Given the description of an element on the screen output the (x, y) to click on. 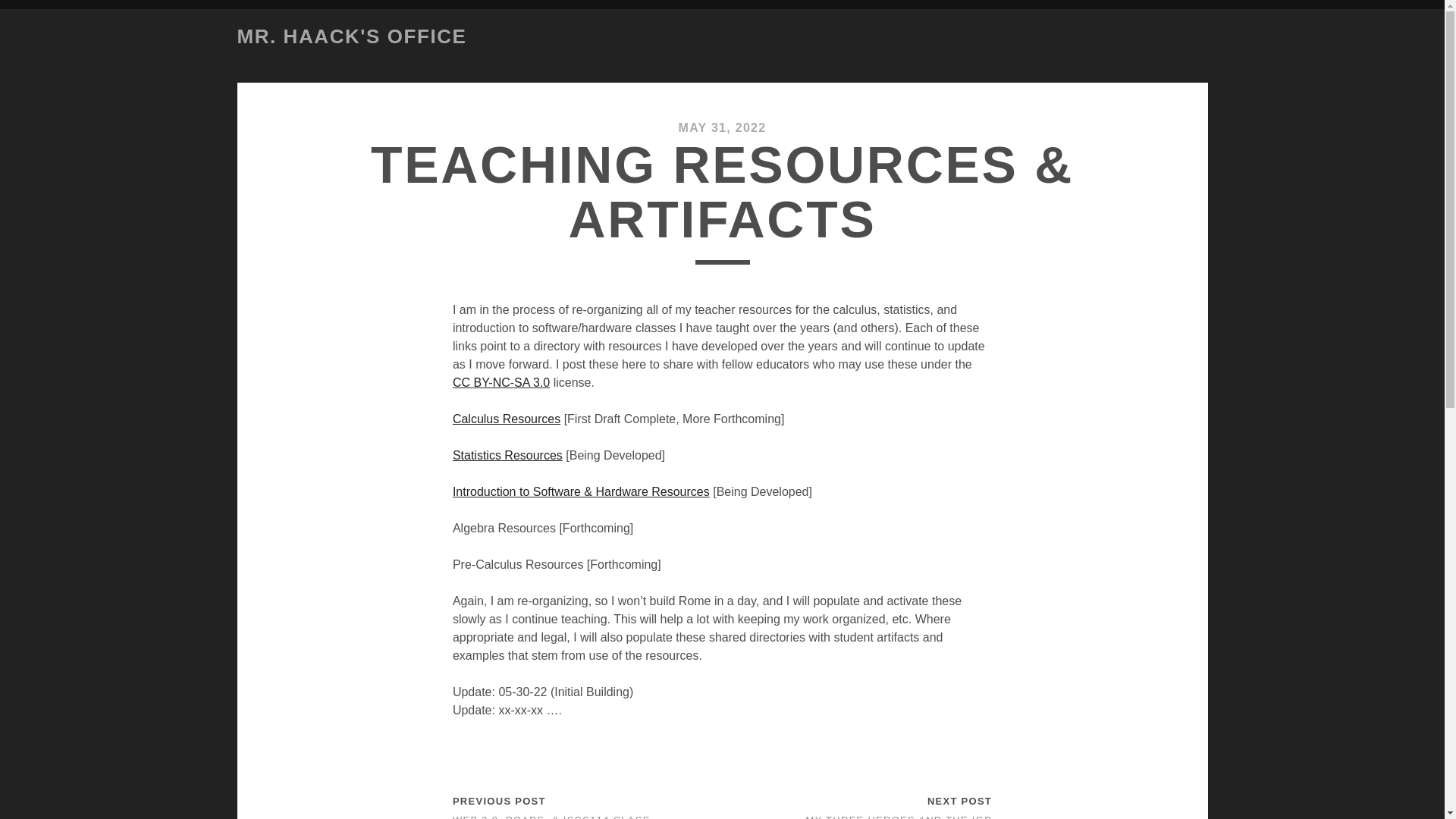
MR. HAACK'S OFFICE (350, 36)
Statistics Resources (507, 454)
Calculus Resources (506, 418)
MY THREE HEROES AND THE IGP (899, 816)
CC BY-NC-SA 3.0 (501, 382)
